Given the description of an element on the screen output the (x, y) to click on. 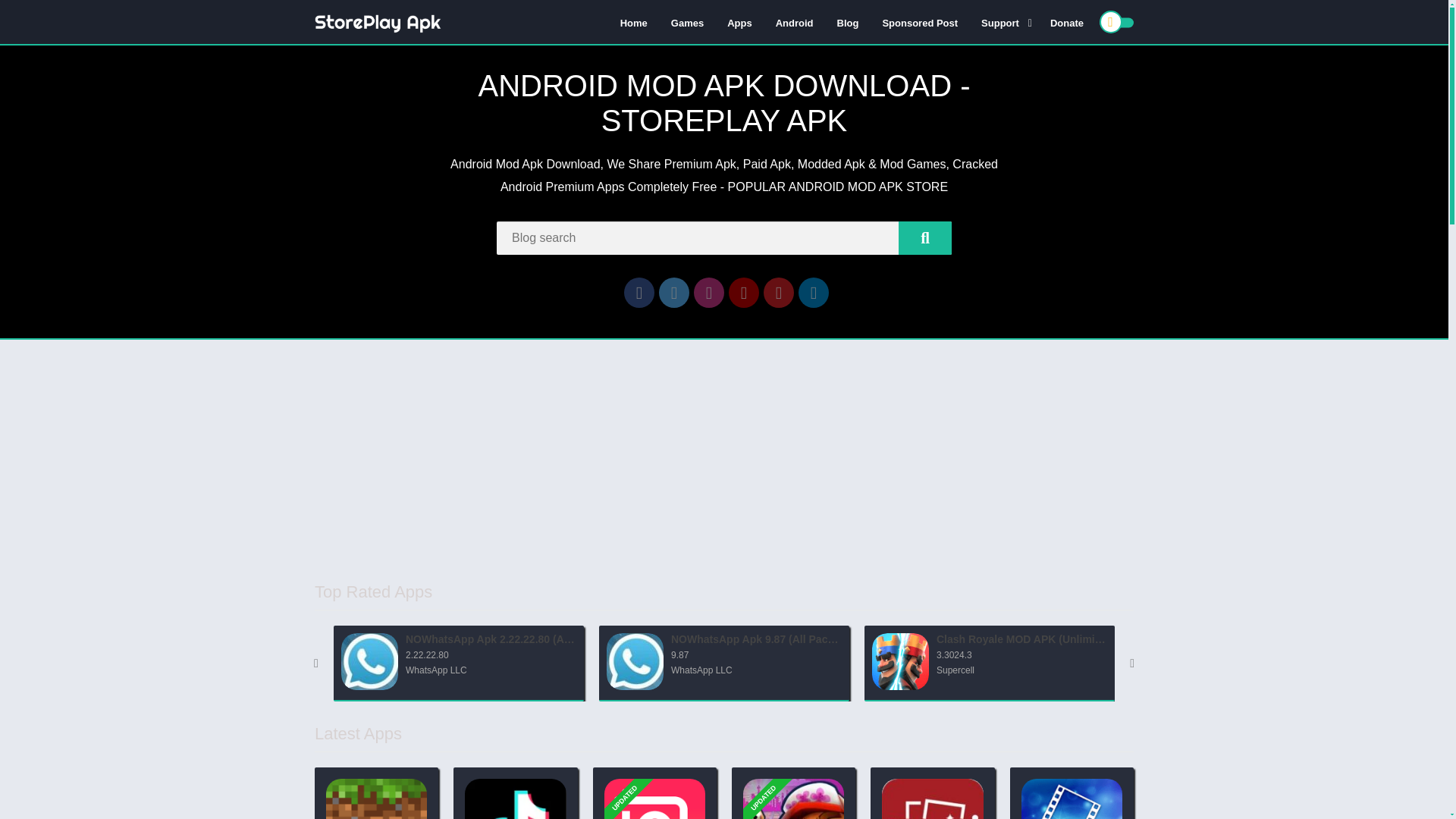
Android (794, 22)
Pinterest (777, 292)
Updated (630, 772)
Games (686, 22)
Donate (1066, 22)
YouTube (743, 292)
Sponsored Post (919, 22)
Home (633, 22)
Telegram (812, 292)
Apps (739, 22)
